Given the description of an element on the screen output the (x, y) to click on. 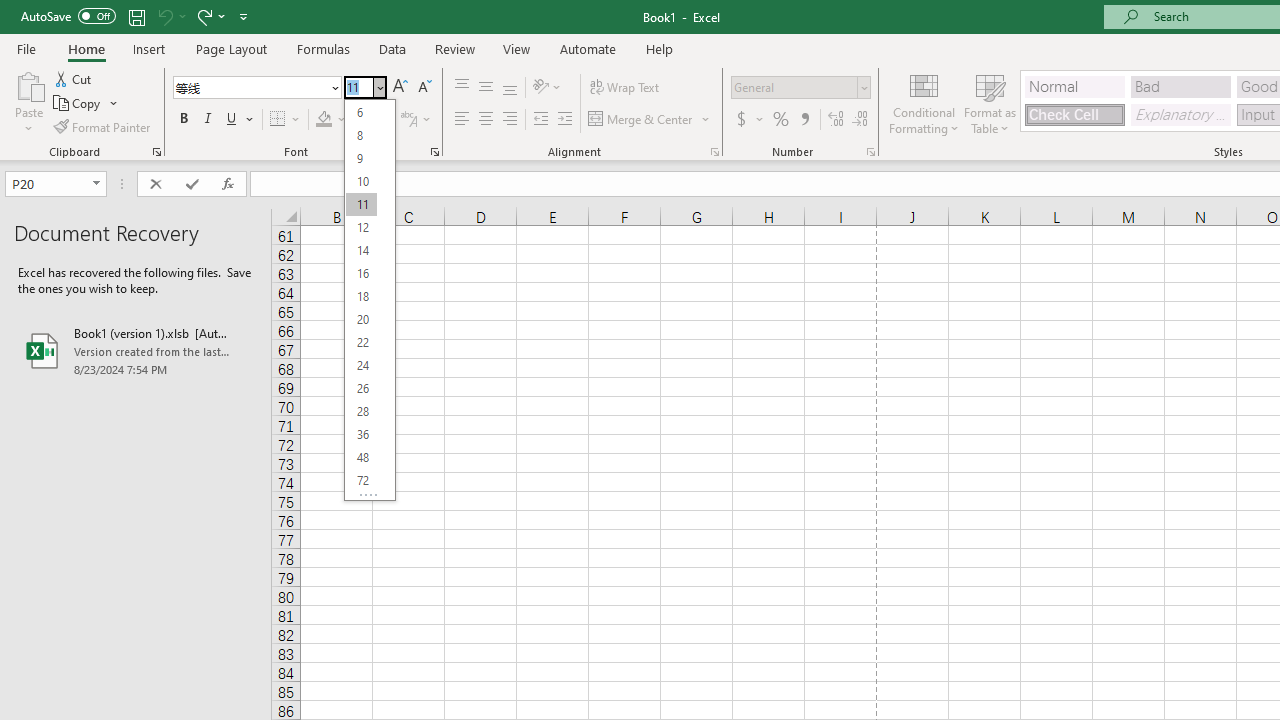
Bad (1180, 86)
Fill Color RGB(255, 255, 0) (324, 119)
Book1 (version 1).xlsb  [AutoRecovered] (136, 350)
Increase Decimal (836, 119)
Name Box (56, 183)
Paste (28, 102)
Insert (149, 48)
Home (86, 48)
48 (361, 456)
File Tab (26, 48)
Class: NetUIScrollBar (385, 295)
Merge & Center (649, 119)
Name Box (46, 183)
Save (136, 15)
Office Clipboard... (156, 151)
